Given the description of an element on the screen output the (x, y) to click on. 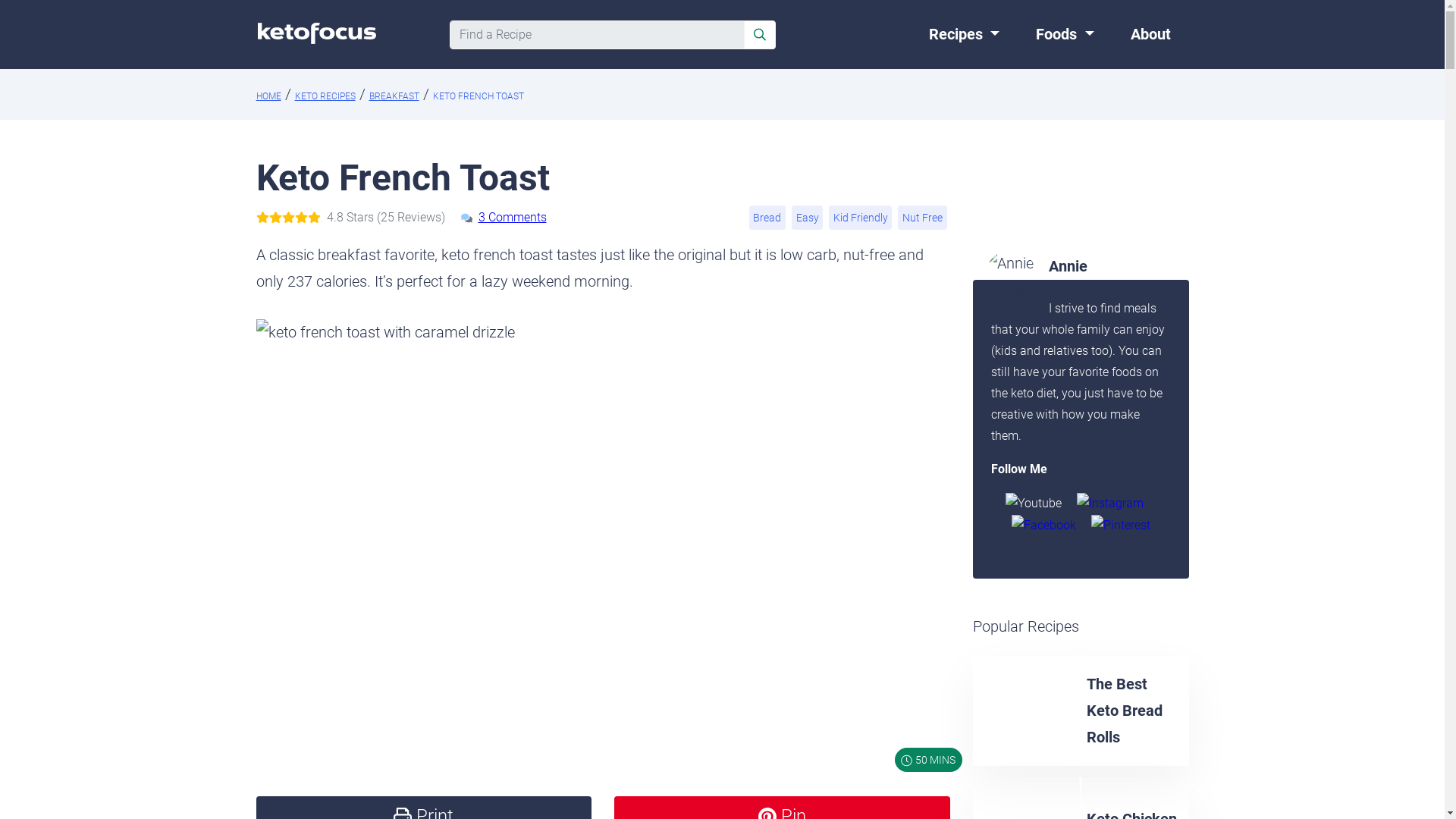
Foods (1064, 34)
HOME (268, 95)
Easy (807, 216)
Recipes (964, 34)
Kid Friendly (859, 216)
BREAKFAST (393, 95)
Pin (782, 807)
3 Comments (511, 216)
About (1150, 34)
KETO RECIPES (324, 95)
Print (424, 807)
Bread (767, 216)
Nut Free (922, 216)
